Given the description of an element on the screen output the (x, y) to click on. 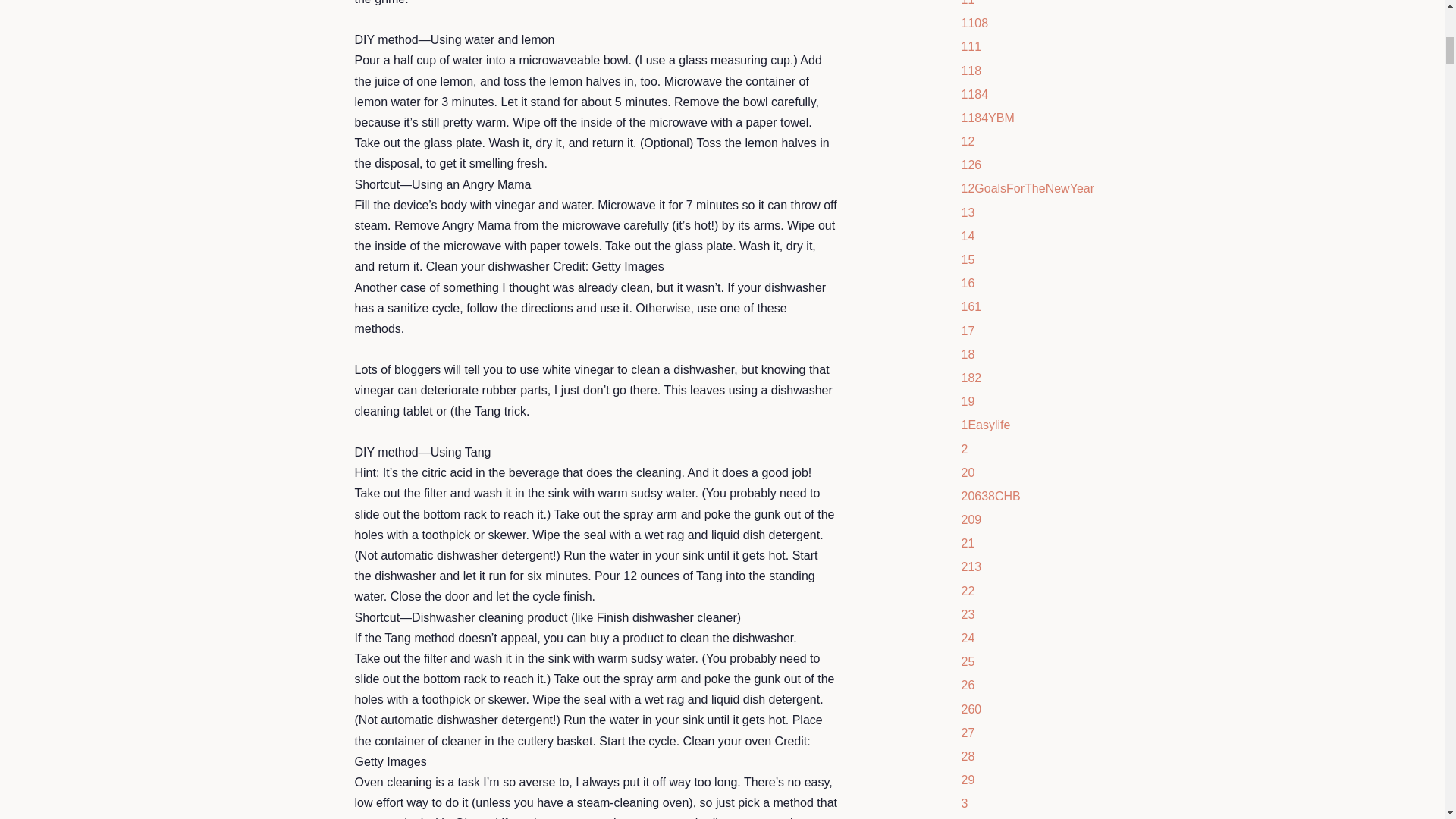
11 (967, 2)
Show articles tagged 1108 (974, 22)
Show articles tagged 13 (967, 212)
Show articles tagged 12GoalsForTheNewYear (1027, 187)
Show articles tagged 12 (967, 141)
1108 (974, 22)
Show articles tagged 126 (970, 164)
1184YBM (987, 117)
118 (970, 70)
1184 (974, 93)
